Given the description of an element on the screen output the (x, y) to click on. 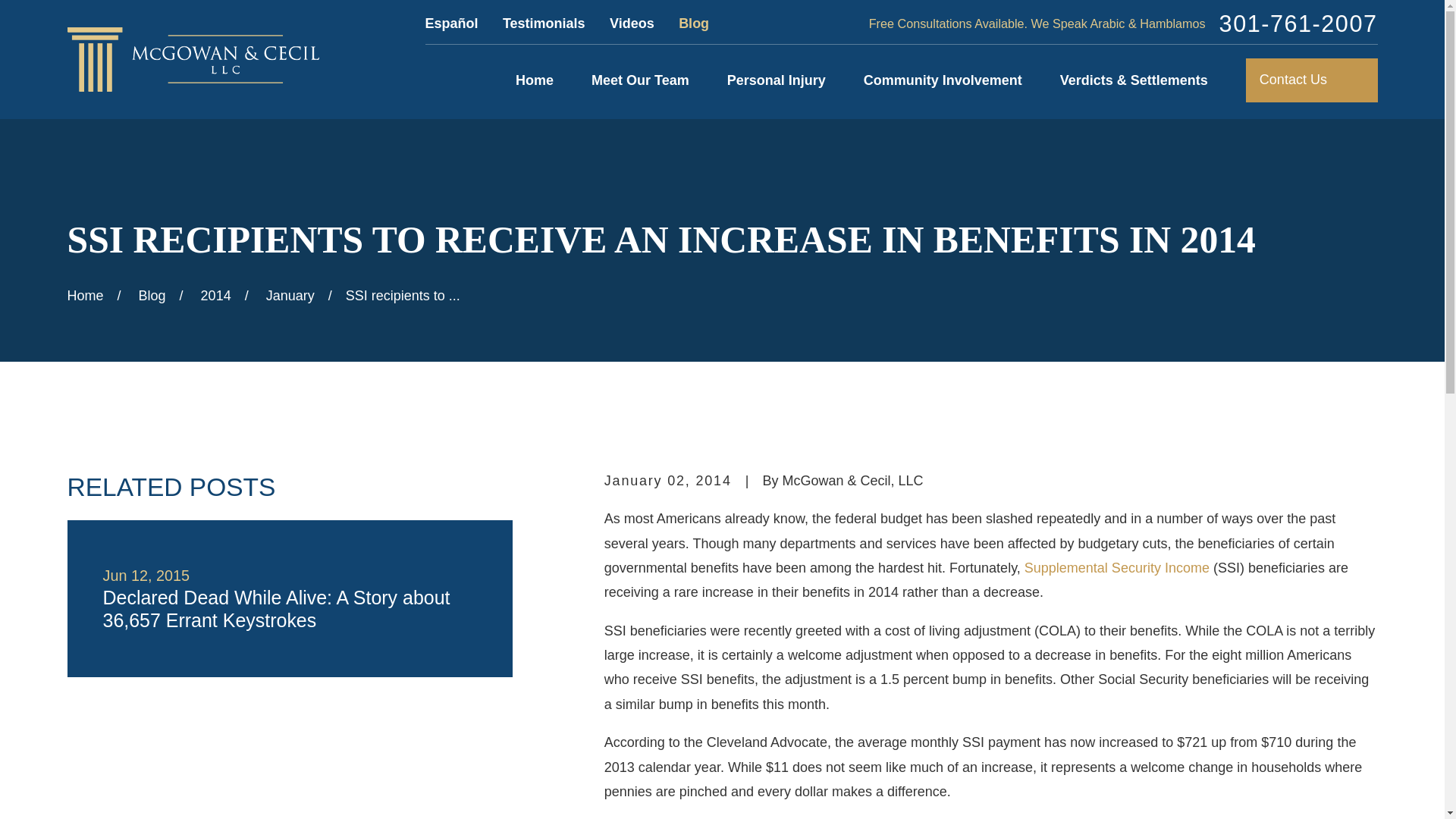
301-761-2007 (1298, 24)
Home (192, 59)
Blog (693, 23)
Testimonials (543, 23)
Go Home (84, 295)
Videos (631, 23)
Personal Injury (775, 80)
Meet Our Team (639, 80)
